Given the description of an element on the screen output the (x, y) to click on. 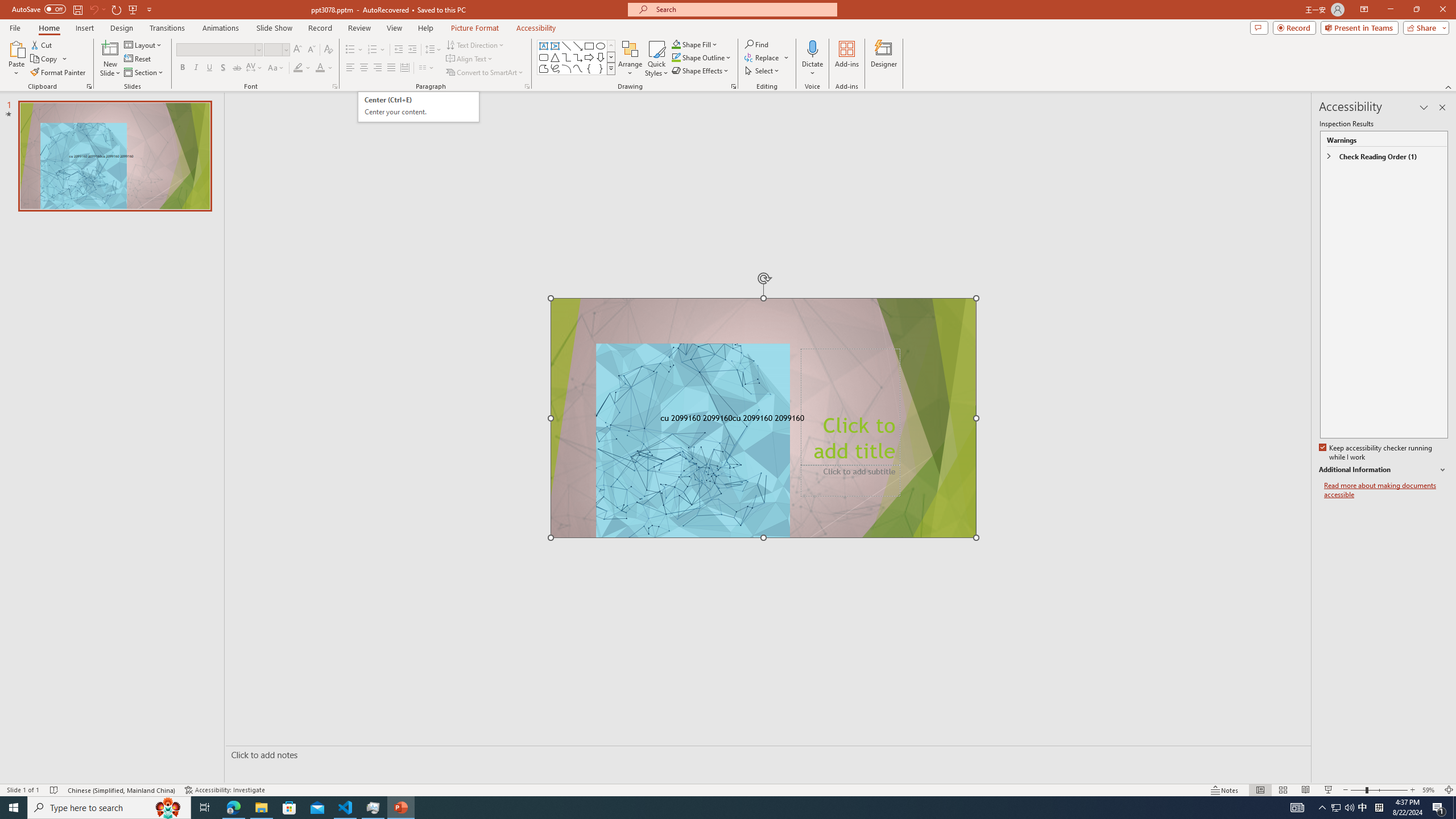
Zoom 59% (1430, 790)
